Given the description of an element on the screen output the (x, y) to click on. 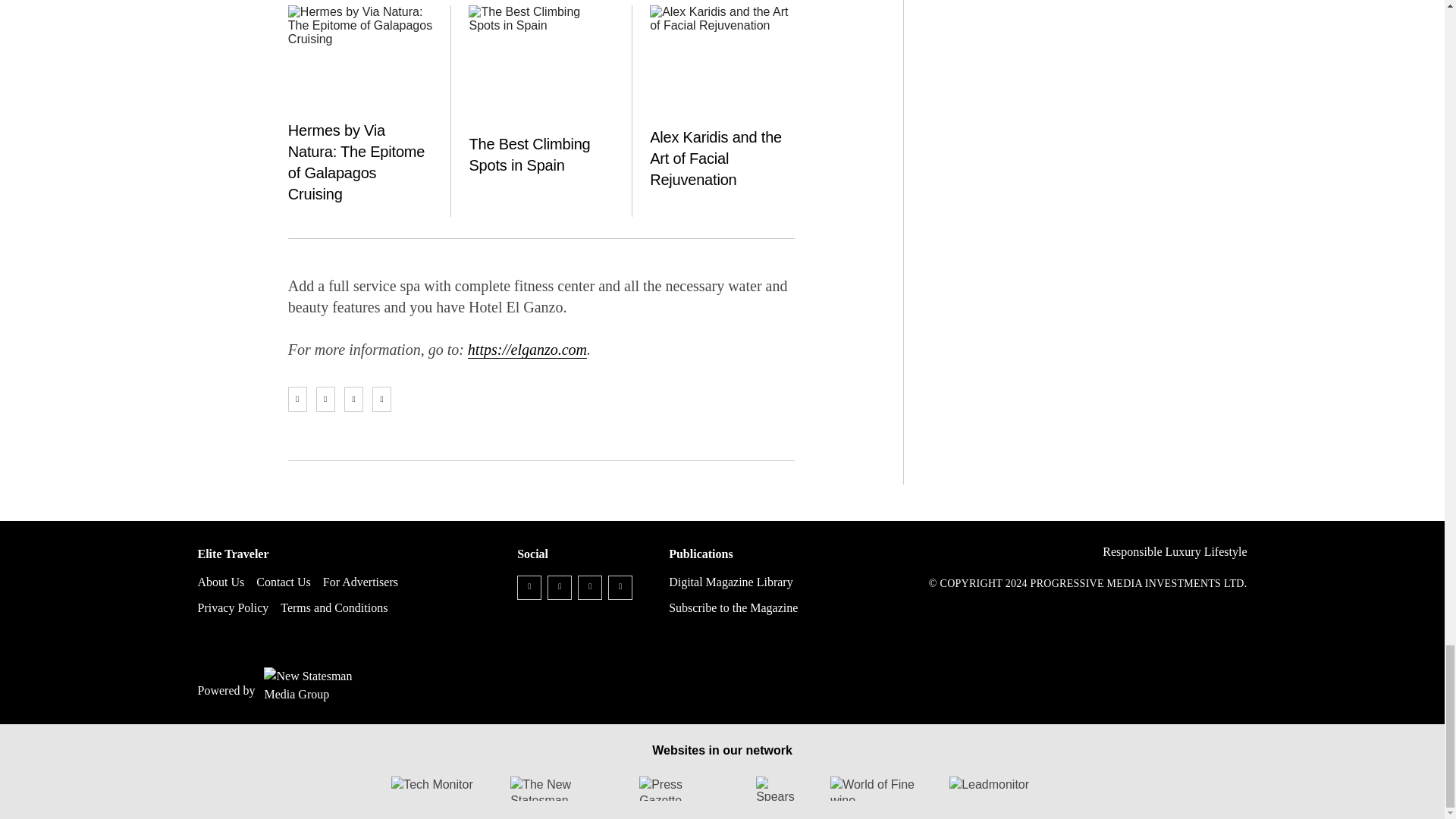
Follow us on Facebook (528, 587)
Follow us on Twitter (559, 587)
Follow us on LinkedIn (590, 587)
Alex Karidis and the Art of Facial Rejuvenation (721, 58)
Hermes by Via Natura: The Epitome of Galapagos Cruising (360, 58)
The Best Climbing Spots in Spain (540, 58)
